Given the description of an element on the screen output the (x, y) to click on. 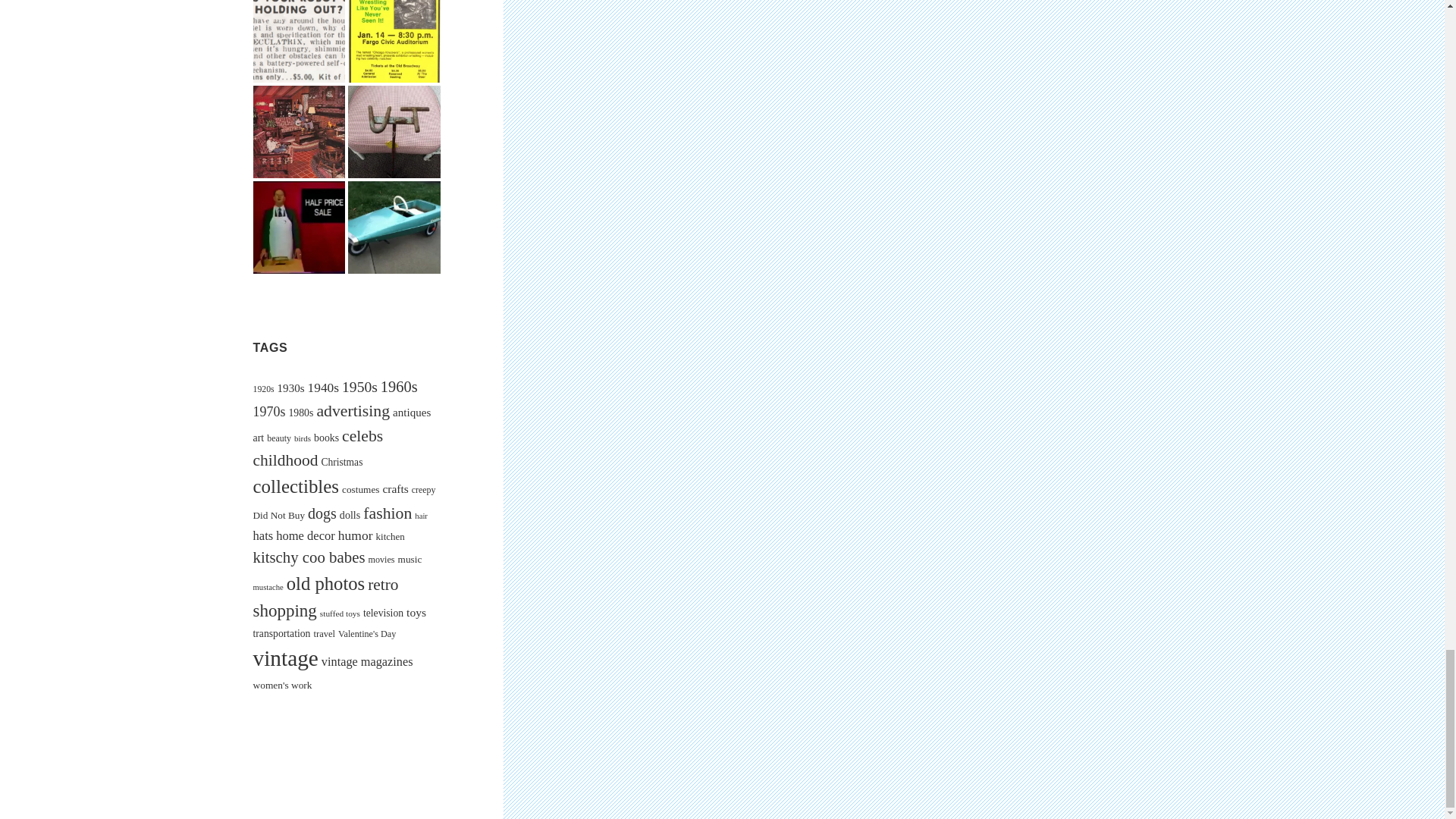
ARE YOU OUT OF ROBOTS? (299, 41)
Women's Mud Wrestling - Like You've Never Seen It, 1982 (394, 41)
This Takes TV Branding To A Whole New Level (394, 131)
The AMF Probe Jr, 1970s (394, 226)
That Old-Timey Look (299, 131)
Williston's Landmark Pizza Hut, 1992 (299, 226)
